Given the description of an element on the screen output the (x, y) to click on. 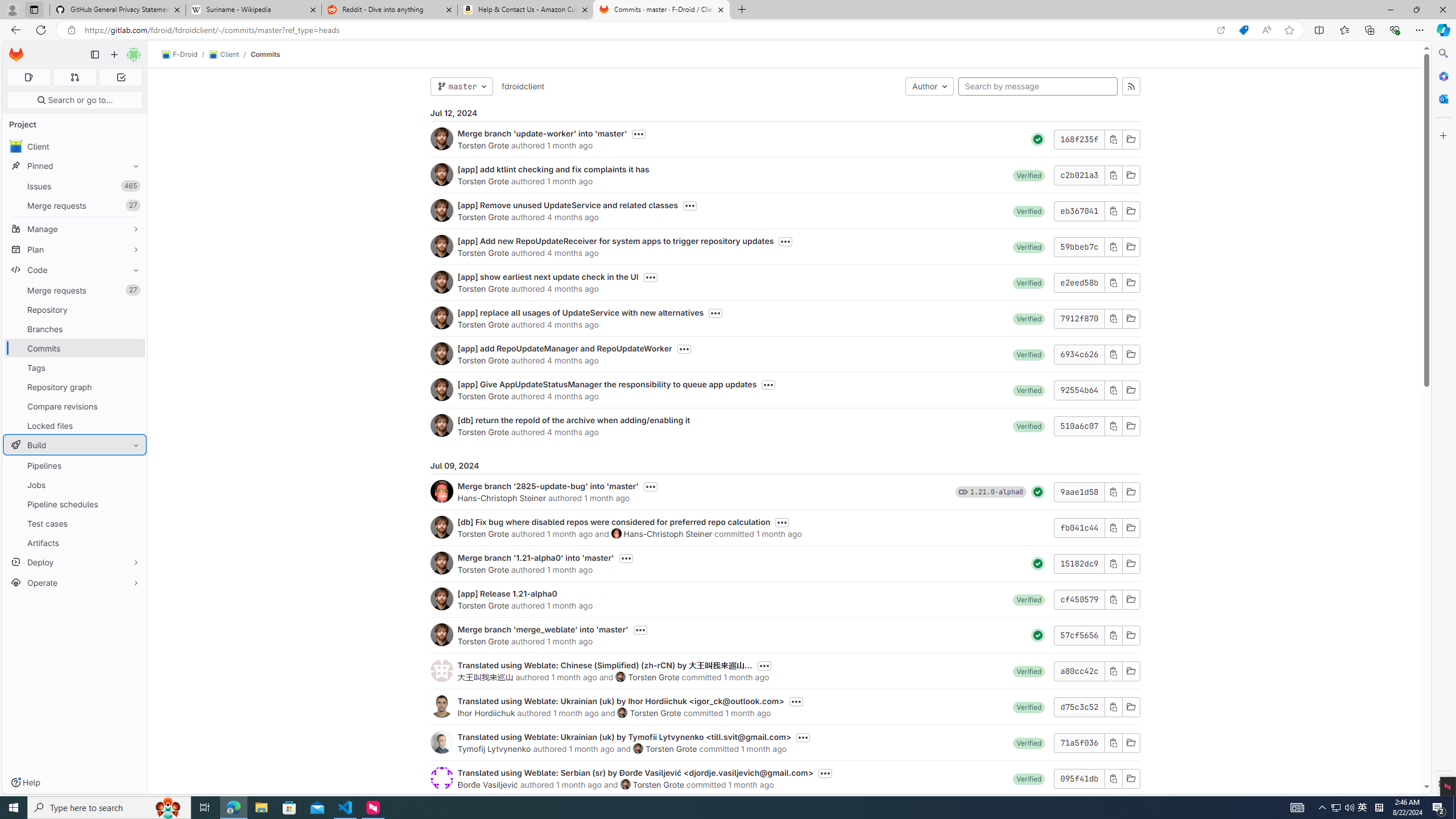
Issues465 (74, 185)
Merge branch 'update-worker' into 'master' (542, 133)
Client (223, 54)
Test cases (74, 523)
Verified (1029, 778)
Tags (74, 367)
Search by message (1038, 85)
Pipelines (74, 465)
Browse Files (1130, 778)
Pipelines (74, 465)
Pin Repository (132, 309)
Pin Compare revisions (132, 406)
[app] add ktlint checking and fix complaints it has (553, 168)
